Given the description of an element on the screen output the (x, y) to click on. 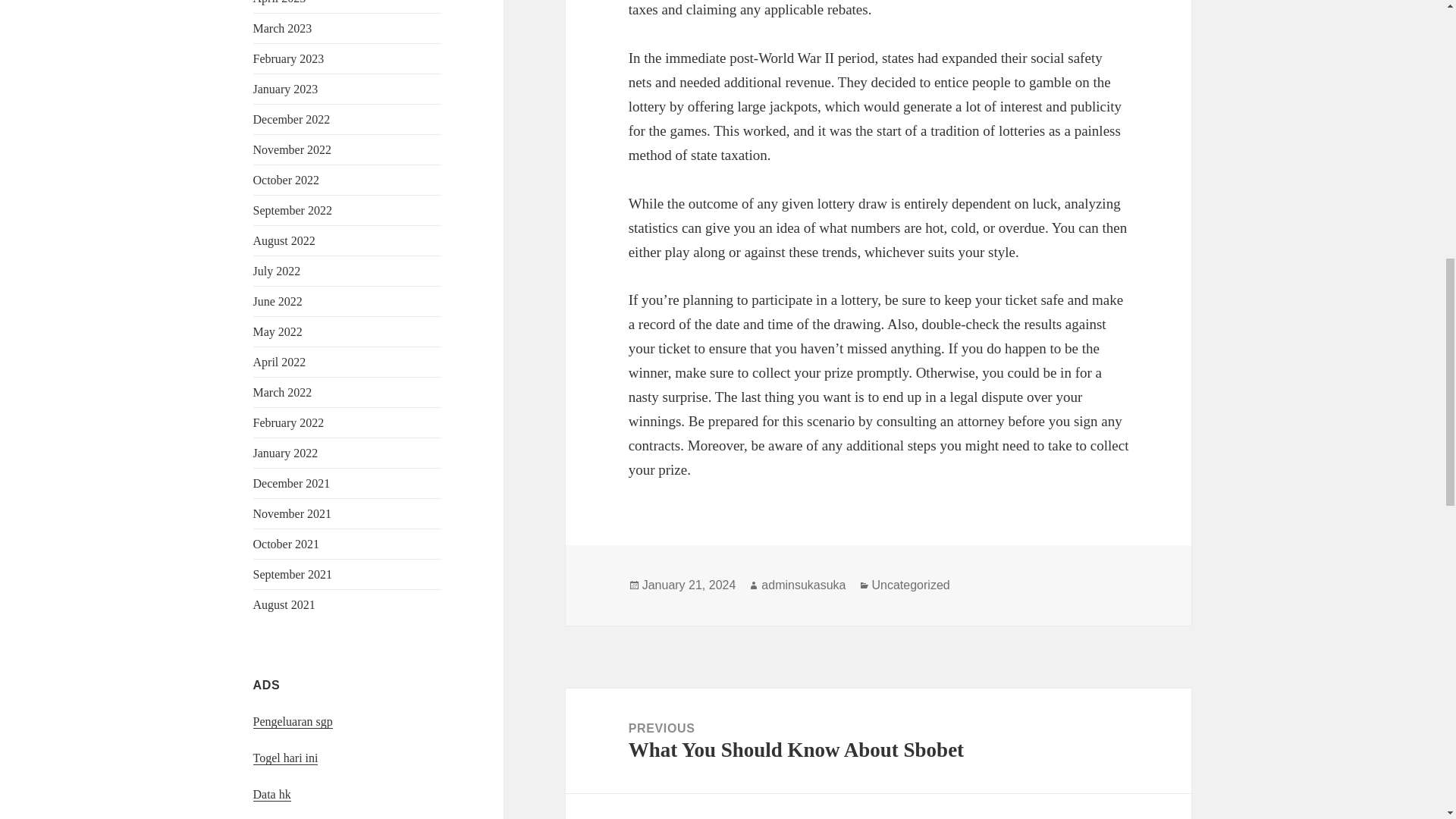
March 2022 (283, 391)
October 2021 (286, 543)
December 2021 (291, 482)
November 2022 (292, 149)
October 2022 (286, 179)
April 2023 (279, 2)
July 2022 (277, 270)
August 2022 (284, 240)
April 2022 (279, 361)
February 2022 (288, 422)
May 2022 (277, 331)
December 2022 (291, 119)
February 2023 (288, 58)
November 2021 (292, 513)
September 2022 (292, 210)
